Given the description of an element on the screen output the (x, y) to click on. 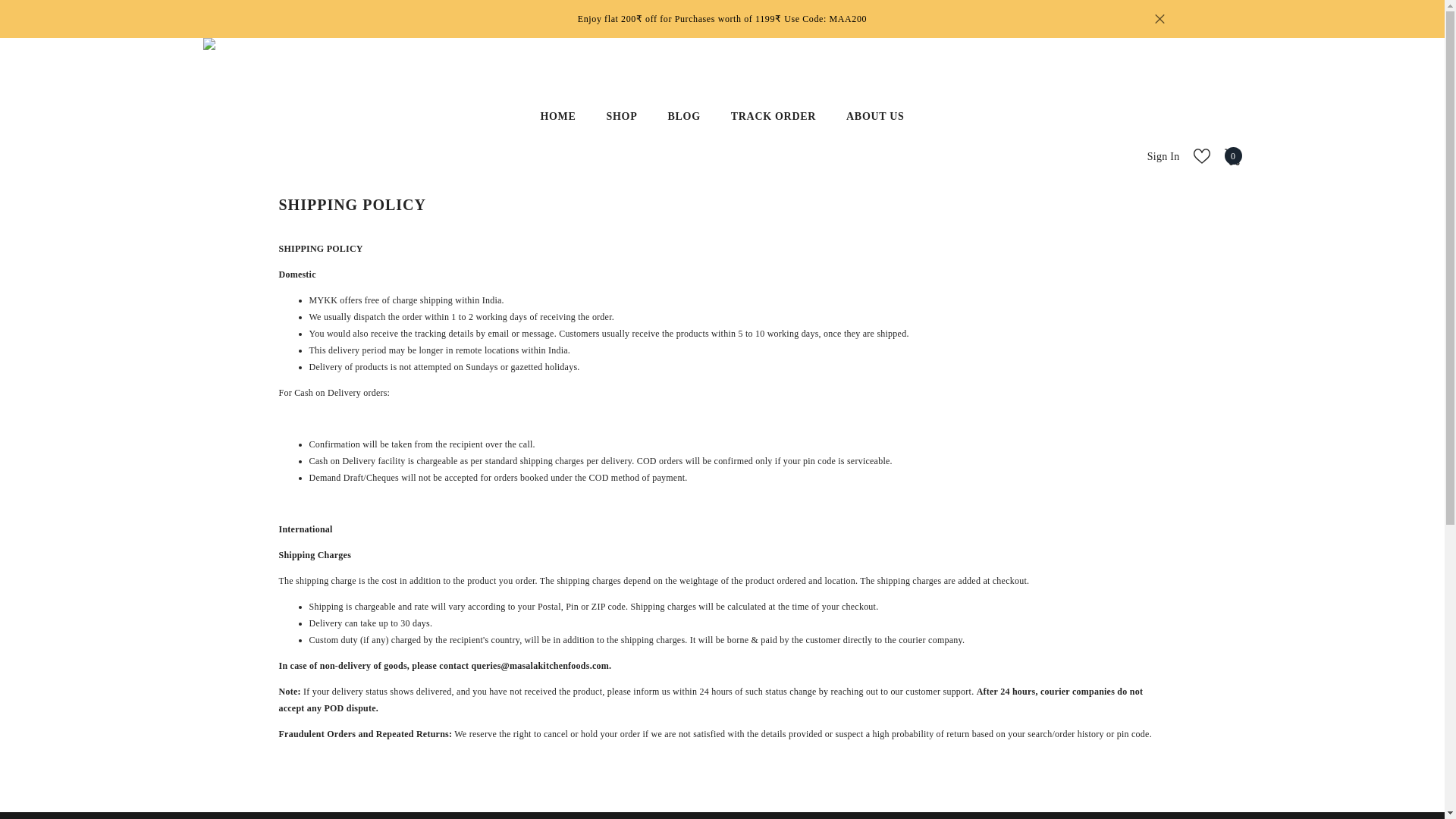
Wish Lists (1201, 157)
SHOP (1232, 157)
HOME (621, 138)
Close (557, 140)
BLOG (1159, 18)
ABOUT US (683, 136)
TRACK ORDER (875, 132)
Sign In (773, 134)
